Given the description of an element on the screen output the (x, y) to click on. 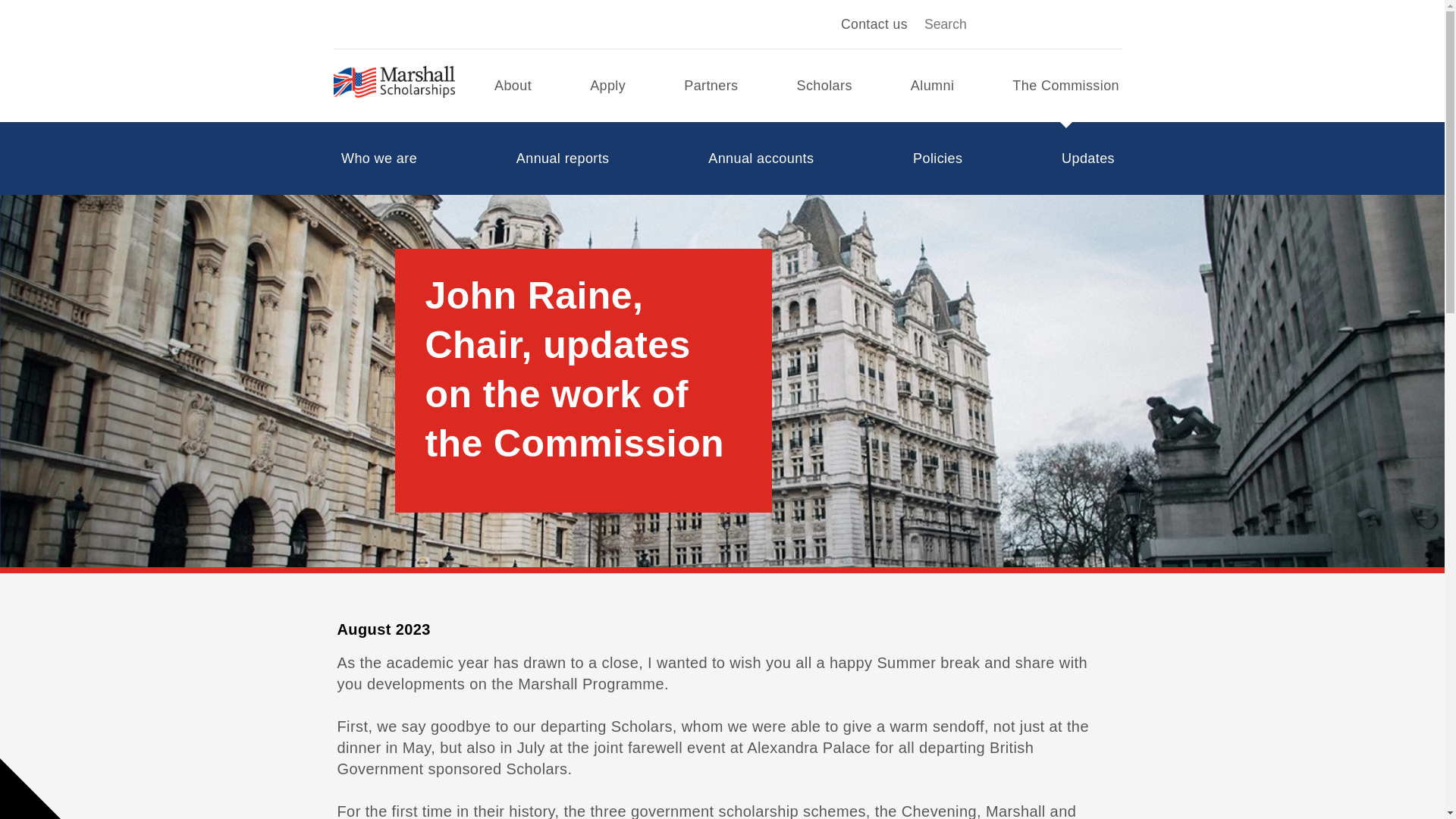
Marshall Scholarships (393, 85)
Contact us (874, 24)
Go (1108, 24)
